Given the description of an element on the screen output the (x, y) to click on. 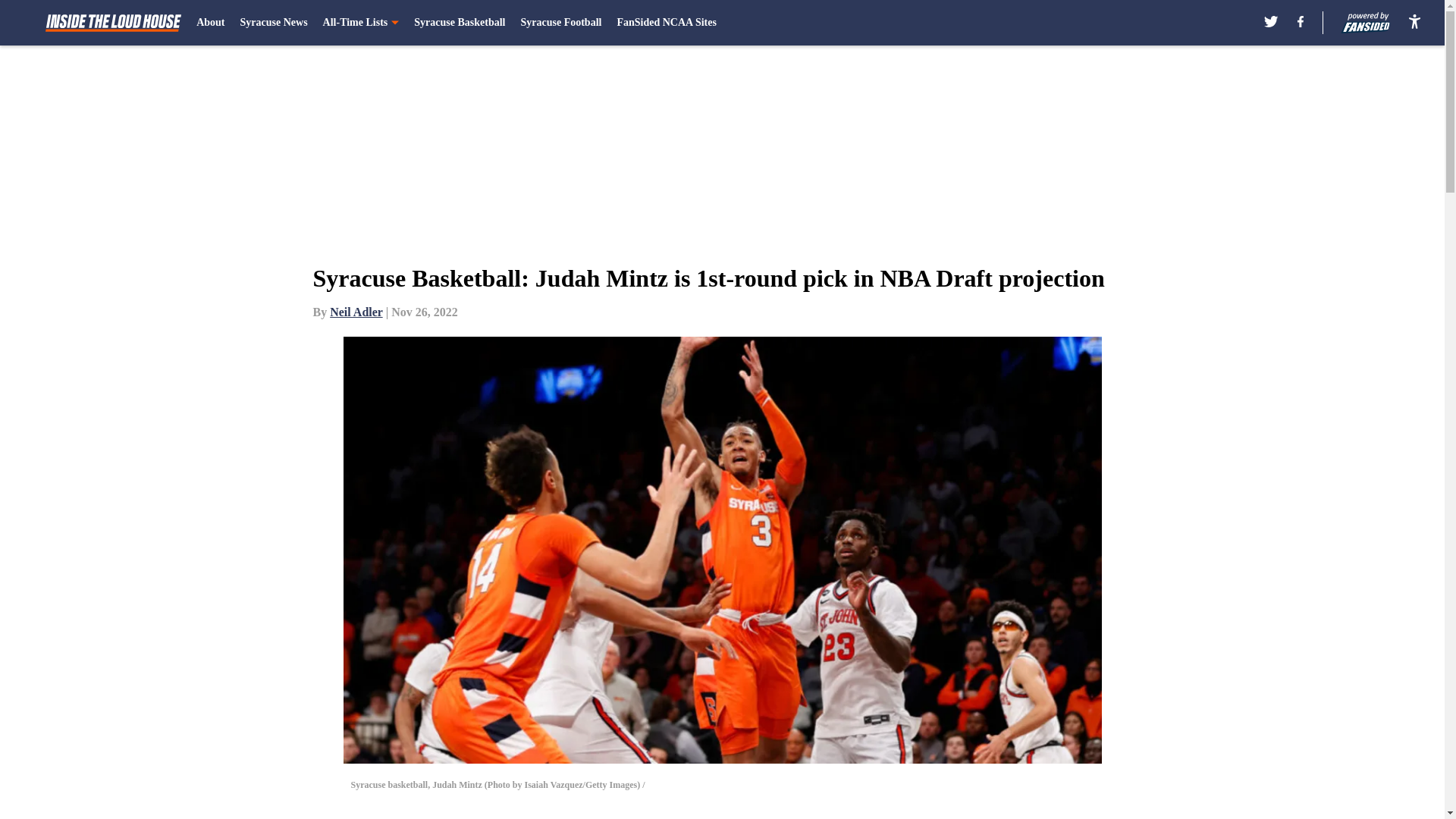
Syracuse News (273, 22)
About (210, 22)
FanSided NCAA Sites (665, 22)
Neil Adler (355, 311)
Syracuse Football (560, 22)
Syracuse Basketball (459, 22)
